Given the description of an element on the screen output the (x, y) to click on. 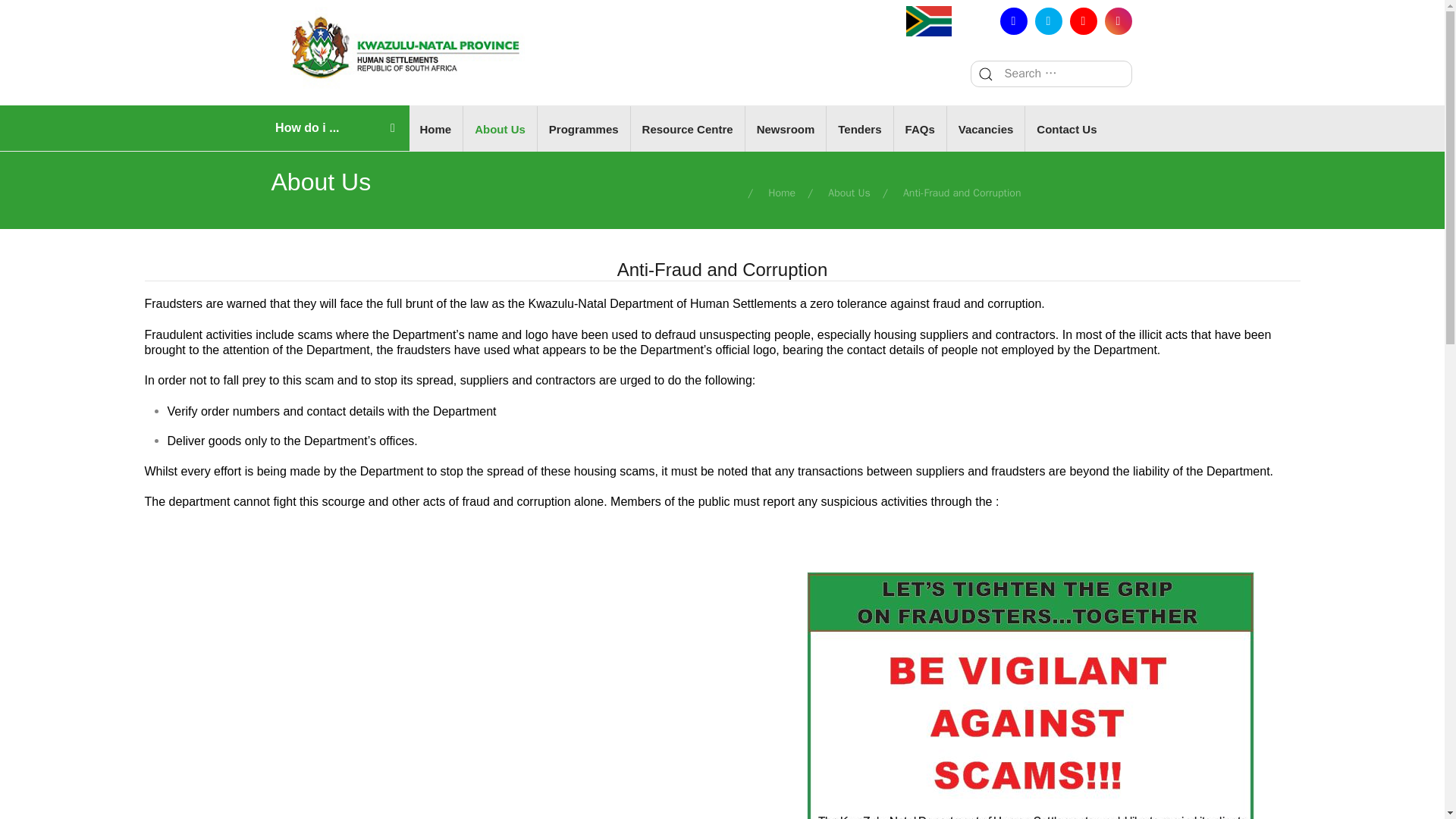
Programmes (583, 129)
Home (435, 129)
About Us (500, 129)
